Given the description of an element on the screen output the (x, y) to click on. 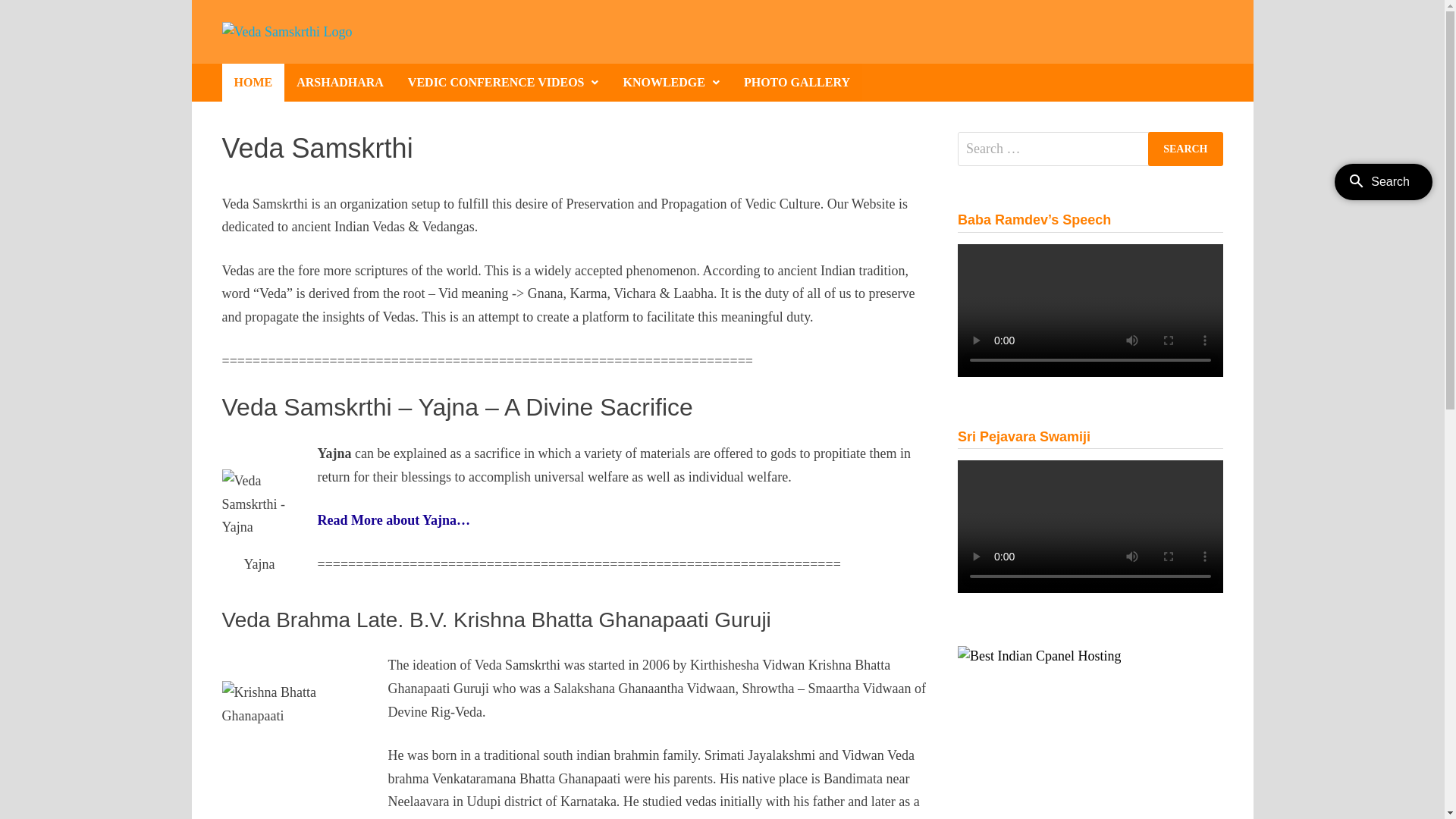
KNOWLEDGE Element type: text (670, 82)
ARSHADHARA Element type: text (339, 82)
PHOTO GALLERY Element type: text (796, 82)
Search Element type: text (1185, 148)
HOME Element type: text (252, 82)
Best Indian Cpanel Hosting Element type: hover (1038, 654)
VEDIC CONFERENCE VIDEOS Element type: text (503, 82)
